Given the description of an element on the screen output the (x, y) to click on. 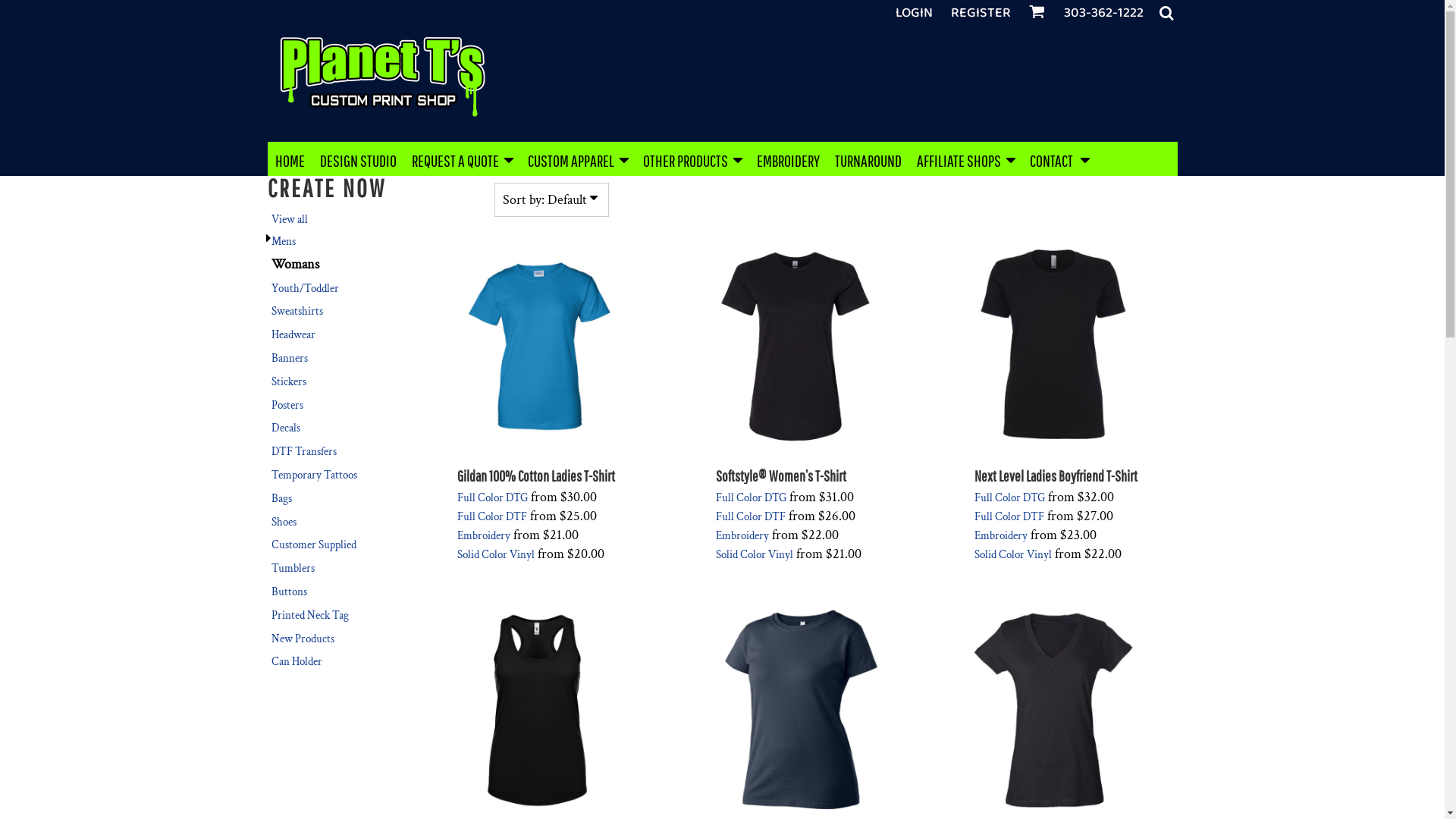
DESIGN STUDIO Element type: text (358, 158)
HOME Element type: text (289, 158)
TURNAROUND Element type: text (867, 158)
Decals Element type: text (285, 427)
OTHER PRODUCTS Element type: text (692, 158)
Full Color DTF Element type: text (491, 516)
Bags Element type: text (281, 498)
CONTACT Element type: text (1058, 158)
LOGIN Element type: text (912, 12)
Gildan 100% Cotton Ladies T-Shirt Element type: text (535, 475)
Stickers Element type: text (288, 381)
Youth/Toddler Element type: text (304, 288)
Sweatshirts Element type: text (297, 311)
Full Color DTF Element type: text (1009, 516)
AFFILIATE SHOPS Element type: text (964, 158)
Headwear Element type: text (293, 334)
Mens Element type: text (283, 241)
Solid Color Vinyl Element type: text (1012, 554)
EMBROIDERY Element type: text (787, 158)
Next Level Ladies Boyfriend T-Shirt Element type: text (1055, 475)
Posters Element type: text (287, 405)
Full Color DTG Element type: text (1009, 497)
Solid Color Vinyl Element type: text (754, 554)
REGISTER Element type: text (980, 12)
Shoes Element type: text (283, 521)
Buttons Element type: text (289, 591)
Embroidery Element type: text (741, 535)
Solid Color Vinyl Element type: text (494, 554)
Next Level Next Level Ladies Boyfriend T-Shirt 3900nl Element type: hover (1056, 339)
Full Color DTF Element type: text (750, 516)
New Products Element type: text (302, 638)
Customer Supplied Element type: text (313, 544)
View all Element type: text (289, 219)
Tumblers Element type: text (292, 568)
Temporary Tattoos Element type: text (314, 474)
REQUEST A QUOTE Element type: text (461, 158)
Banners Element type: text (289, 358)
Full Color DTG Element type: text (491, 497)
DTF Transfers Element type: text (303, 451)
Full Color DTG Element type: text (750, 497)
Embroidery Element type: text (1000, 535)
CUSTOM APPAREL Element type: text (577, 158)
Gildan Gildan 100% Cotton Ladies T-Shirt G200L Element type: hover (538, 339)
Printed Neck Tag Element type: text (309, 615)
Embroidery Element type: text (482, 535)
Can Holder Element type: text (296, 661)
